Given the description of an element on the screen output the (x, y) to click on. 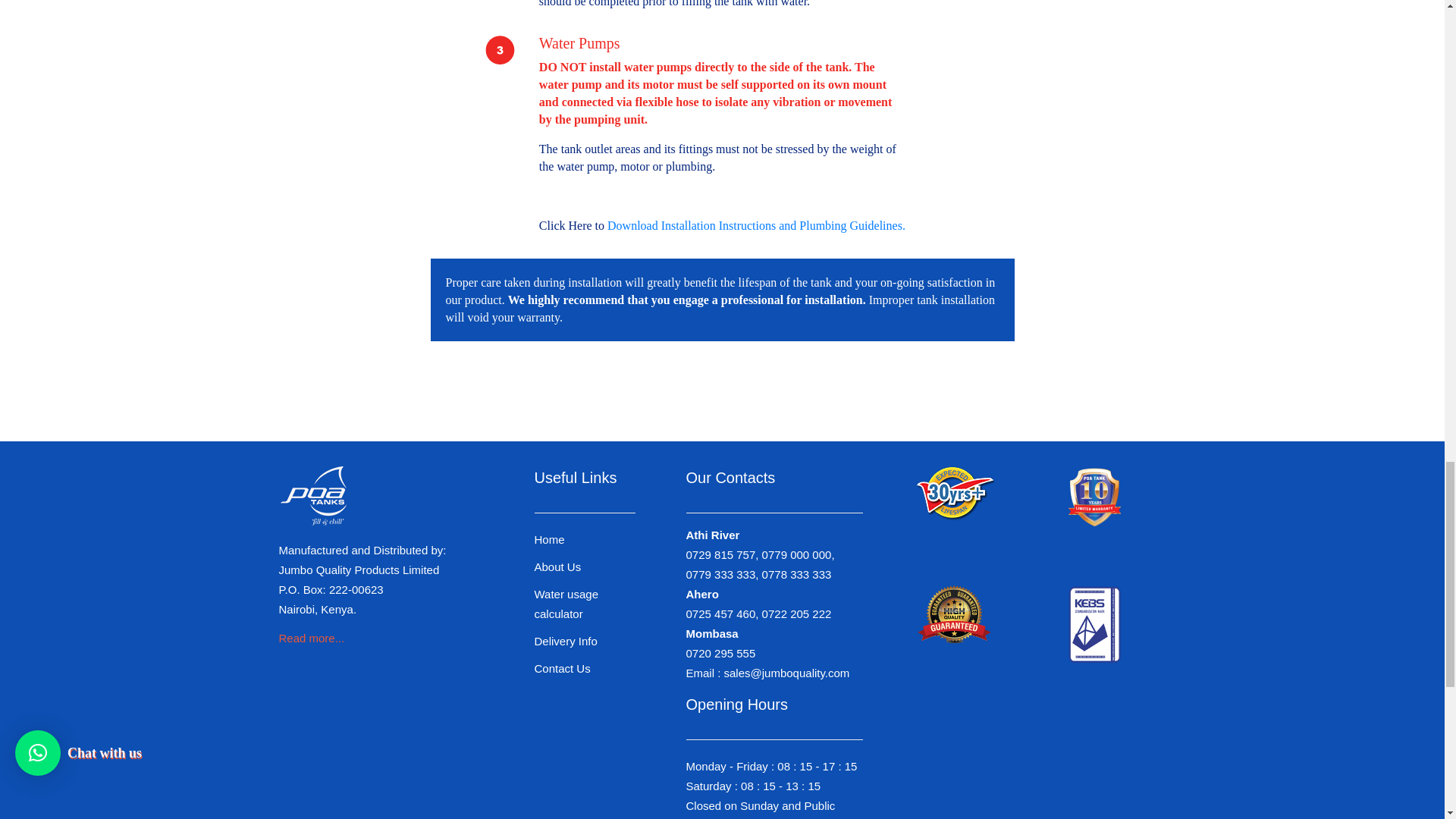
icon3 (499, 50)
Download Installation Instructions and Plumbing Guidelines. (756, 225)
Home (549, 539)
Read more... (312, 637)
